Given the description of an element on the screen output the (x, y) to click on. 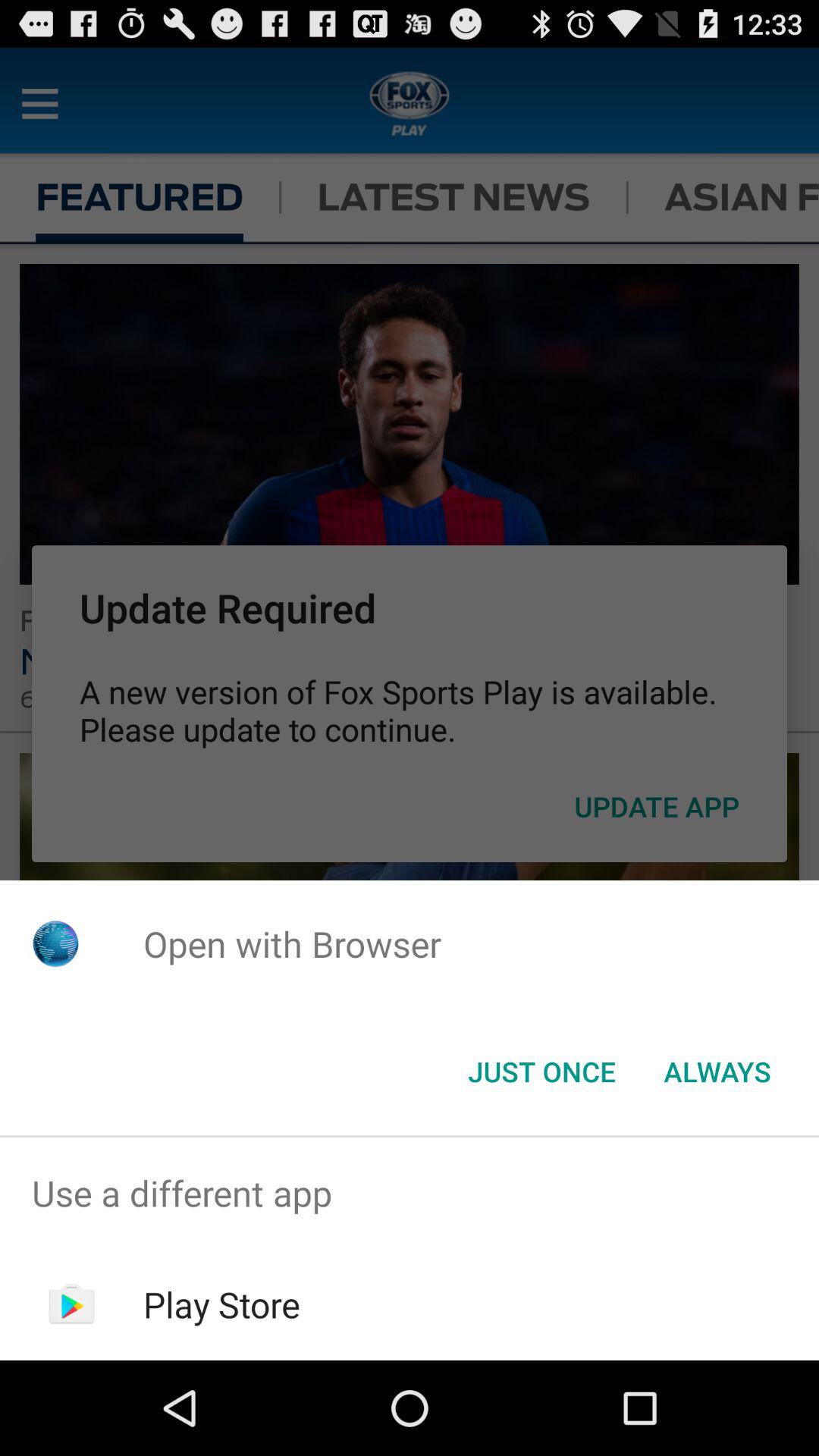
jump until use a different (409, 1192)
